Given the description of an element on the screen output the (x, y) to click on. 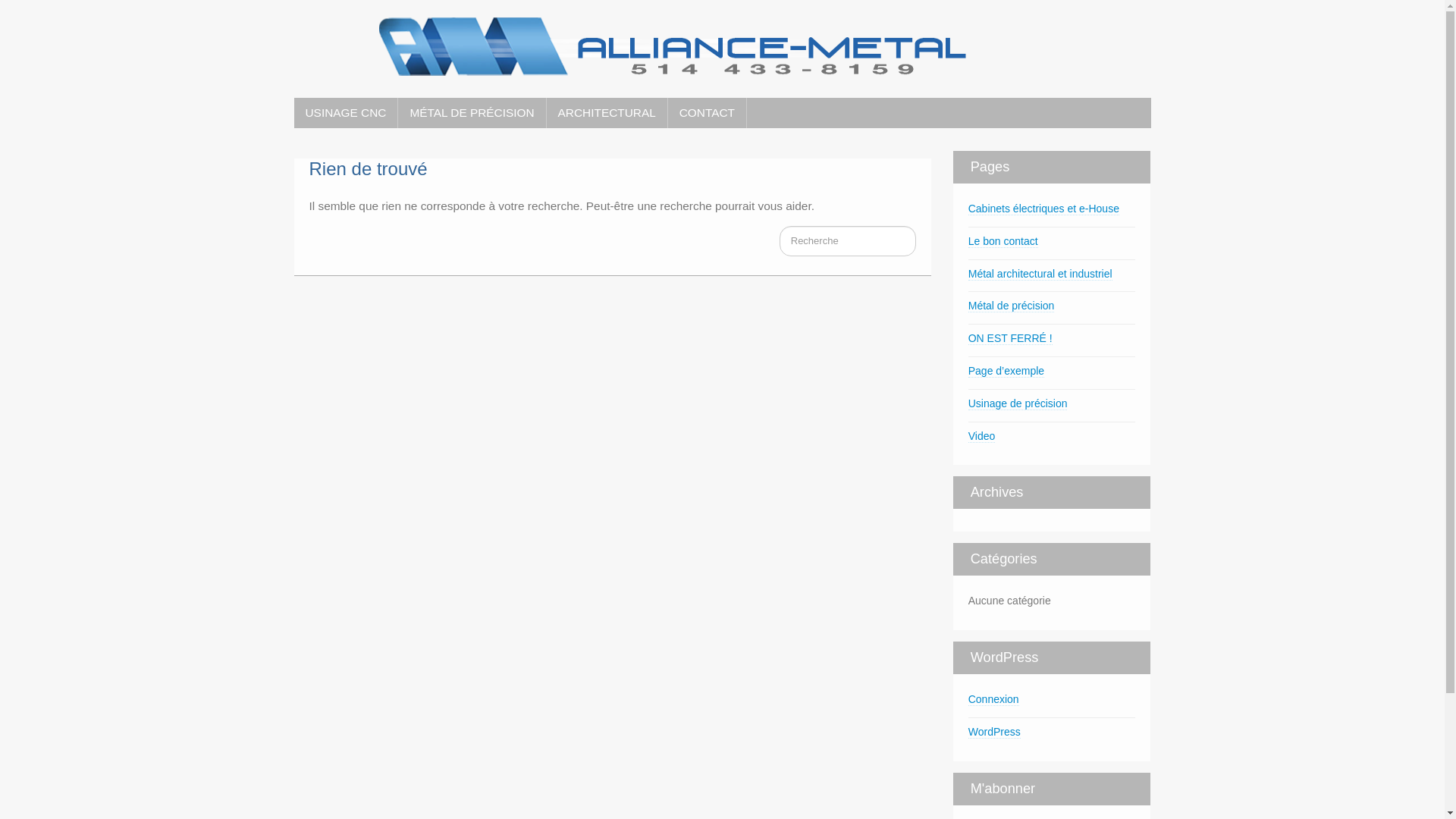
ARCHITECTURAL Element type: text (606, 112)
CONTACT Element type: text (707, 112)
Video Element type: text (981, 435)
Le bon contact Element type: text (1003, 241)
Connexion Element type: text (993, 699)
USINAGE CNC Element type: text (346, 112)
ALLIANCE METAL Element type: hover (673, 40)
WordPress Element type: text (994, 731)
